Given the description of an element on the screen output the (x, y) to click on. 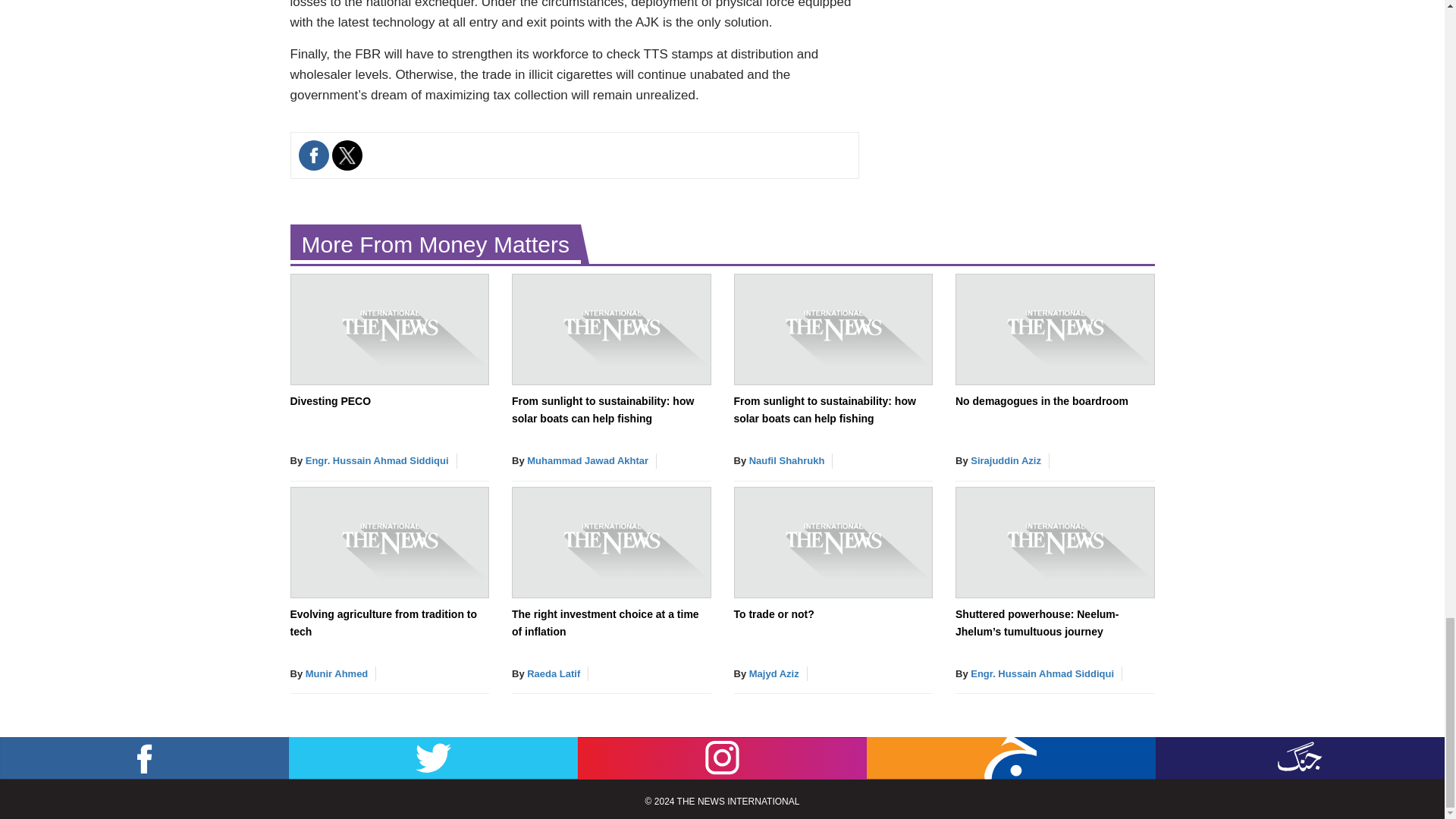
Engr. Hussain Ahmad Siddiqui (376, 460)
Evolving agriculture from tradition to tech (383, 623)
Munir Ahmed (336, 673)
Raeda Latif (553, 673)
Naufil Shahrukh (787, 460)
To trade or not? (773, 613)
Sirajuddin Aziz (1006, 460)
No demagogues in the boardroom (1041, 400)
The right investment choice at a time of inflation (605, 623)
Divesting PECO (330, 400)
Muhammad Jawad Akhtar (587, 460)
